Given the description of an element on the screen output the (x, y) to click on. 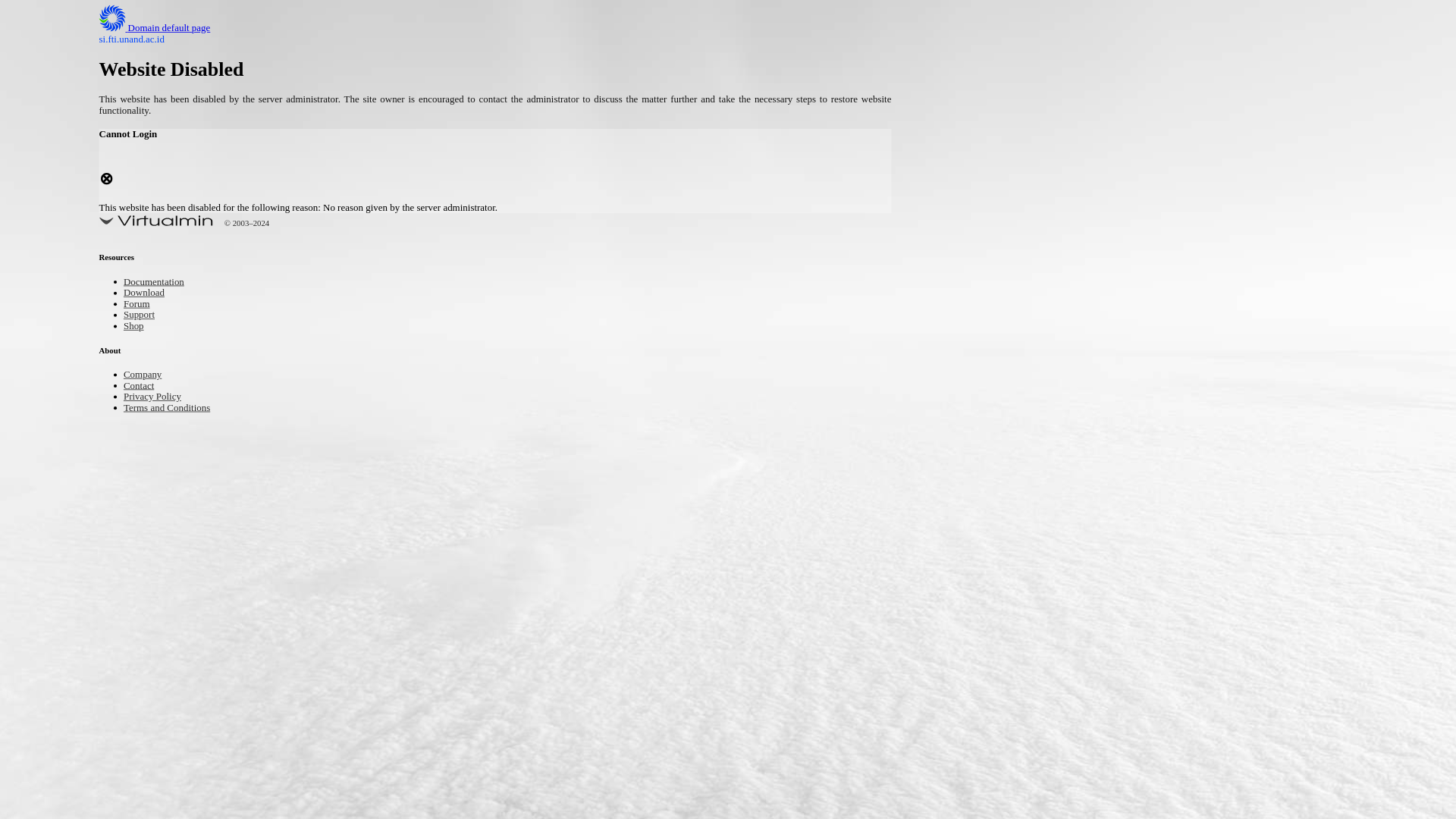
Terms and Conditions (176, 408)
Download (148, 293)
Company (146, 374)
Forum (139, 305)
Privacy Policy (159, 397)
Support (142, 315)
Documentation (160, 282)
Shop (135, 327)
Domain default page (167, 29)
Contact (142, 386)
